Given the description of an element on the screen output the (x, y) to click on. 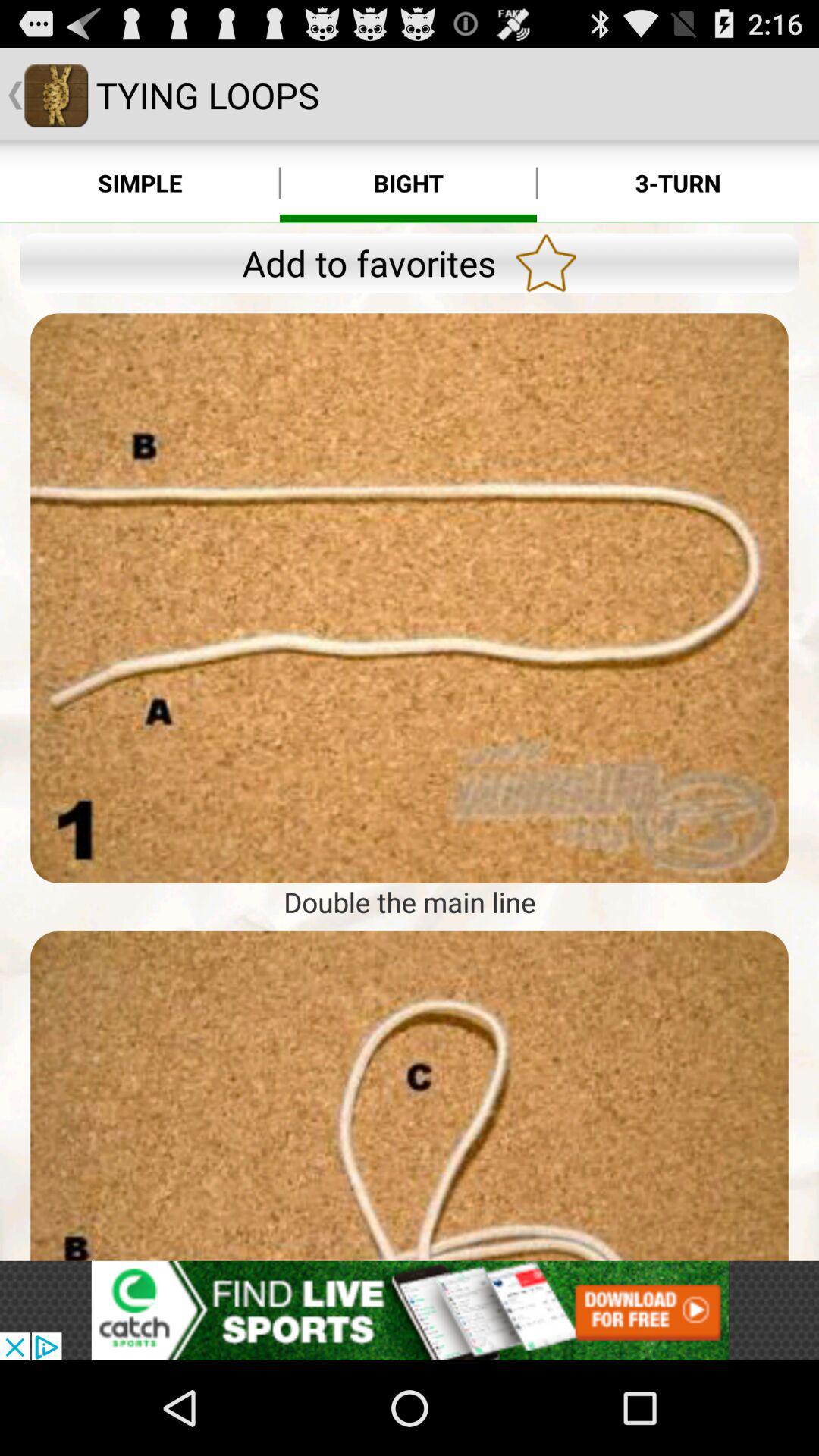
select the add link (409, 1310)
